Given the description of an element on the screen output the (x, y) to click on. 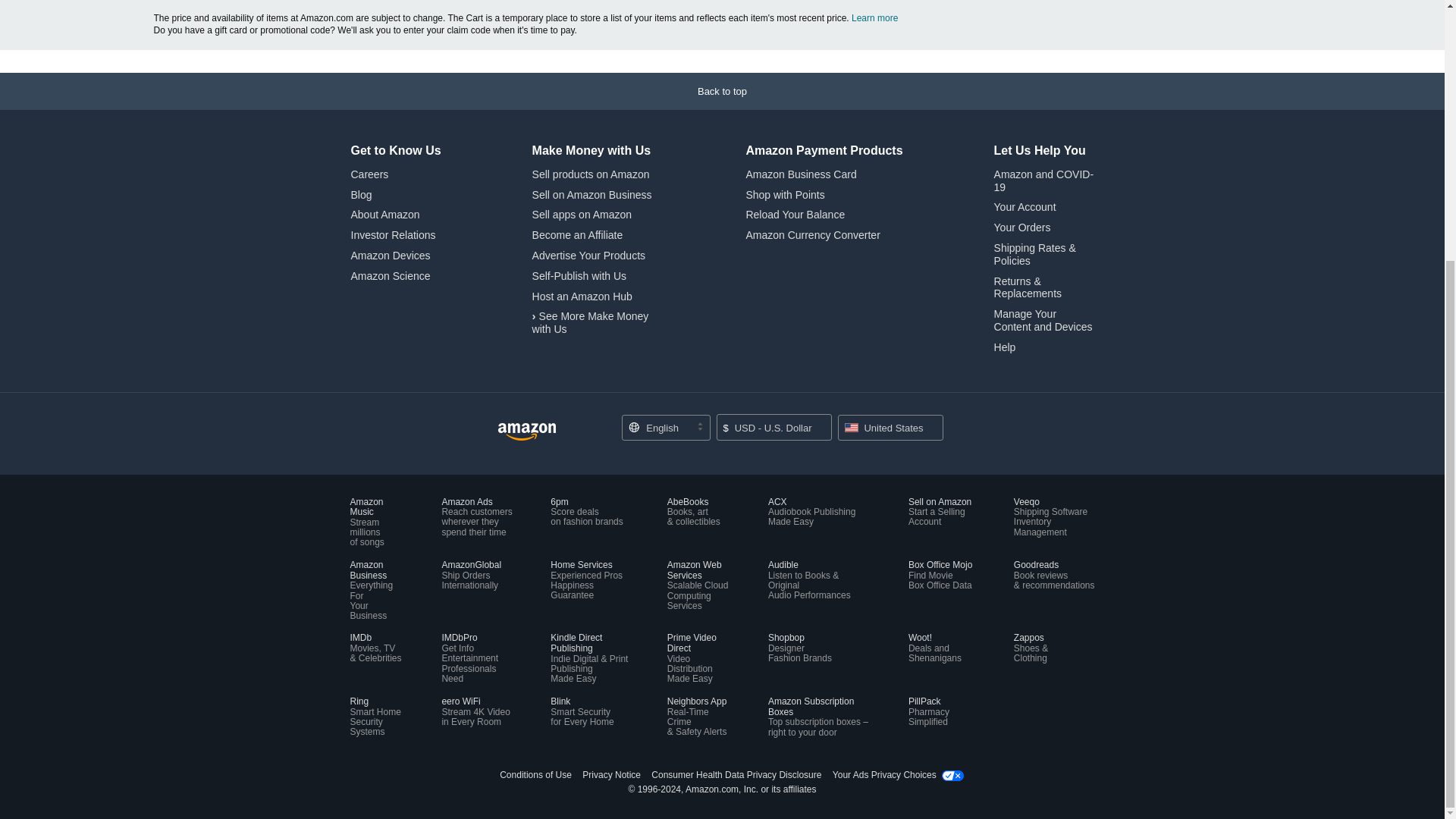
Amazon Devices (389, 255)
About Amazon (384, 214)
Amazon Business Card (800, 174)
Careers (369, 174)
See More Make Money with Us (590, 322)
Sell products on Amazon (590, 174)
Become an Affiliate (577, 234)
Self-Publish with Us (579, 275)
Blog (360, 194)
Investor Relations (392, 234)
